Given the description of an element on the screen output the (x, y) to click on. 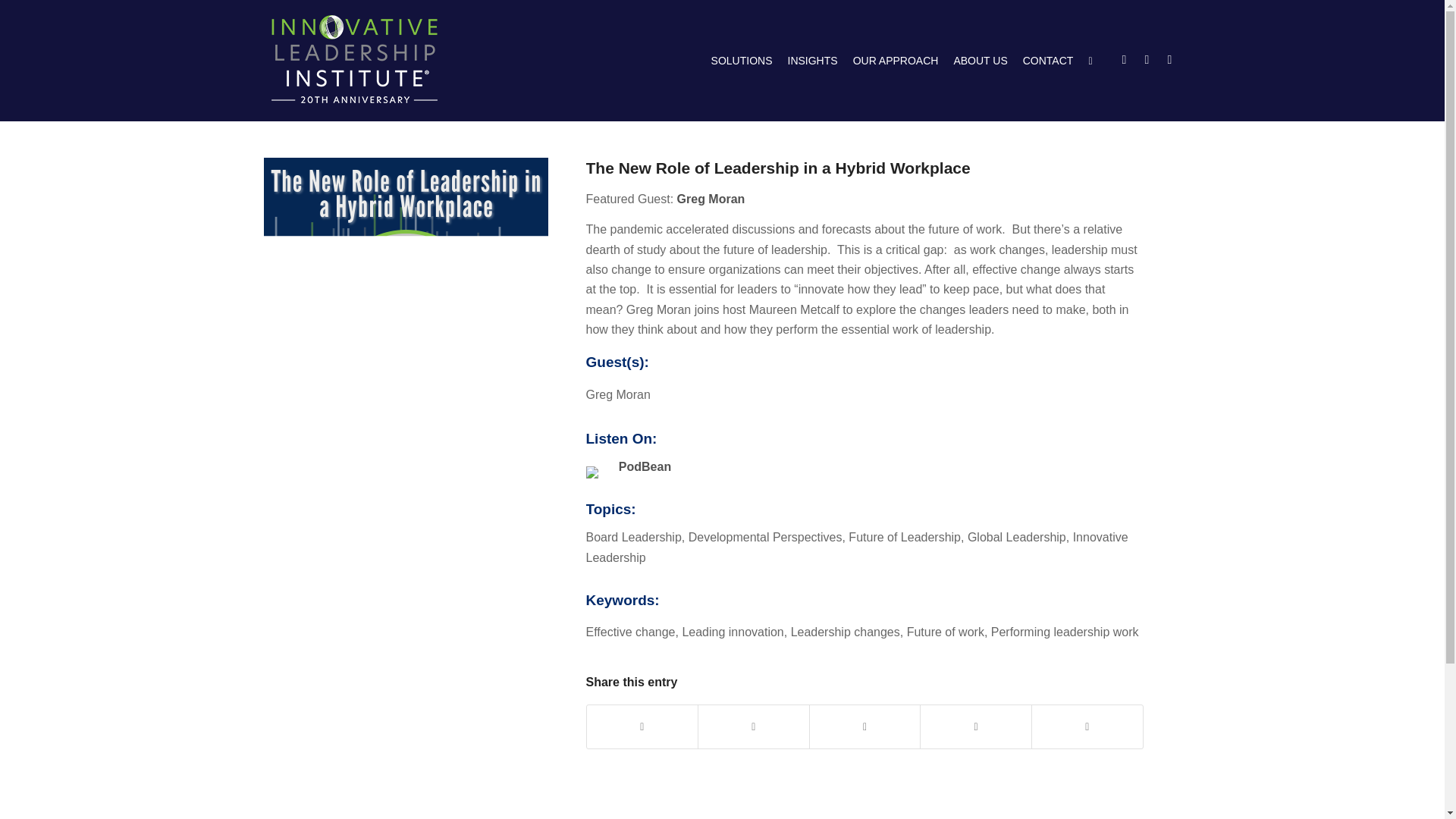
Mail (1169, 59)
LinkedIn (1146, 59)
The New Role of Leadership in a Hybrid Workplace (777, 167)
Twitter (1124, 59)
Greg Moran (711, 198)
ILI-Anniversary-Logo (354, 59)
